Given the description of an element on the screen output the (x, y) to click on. 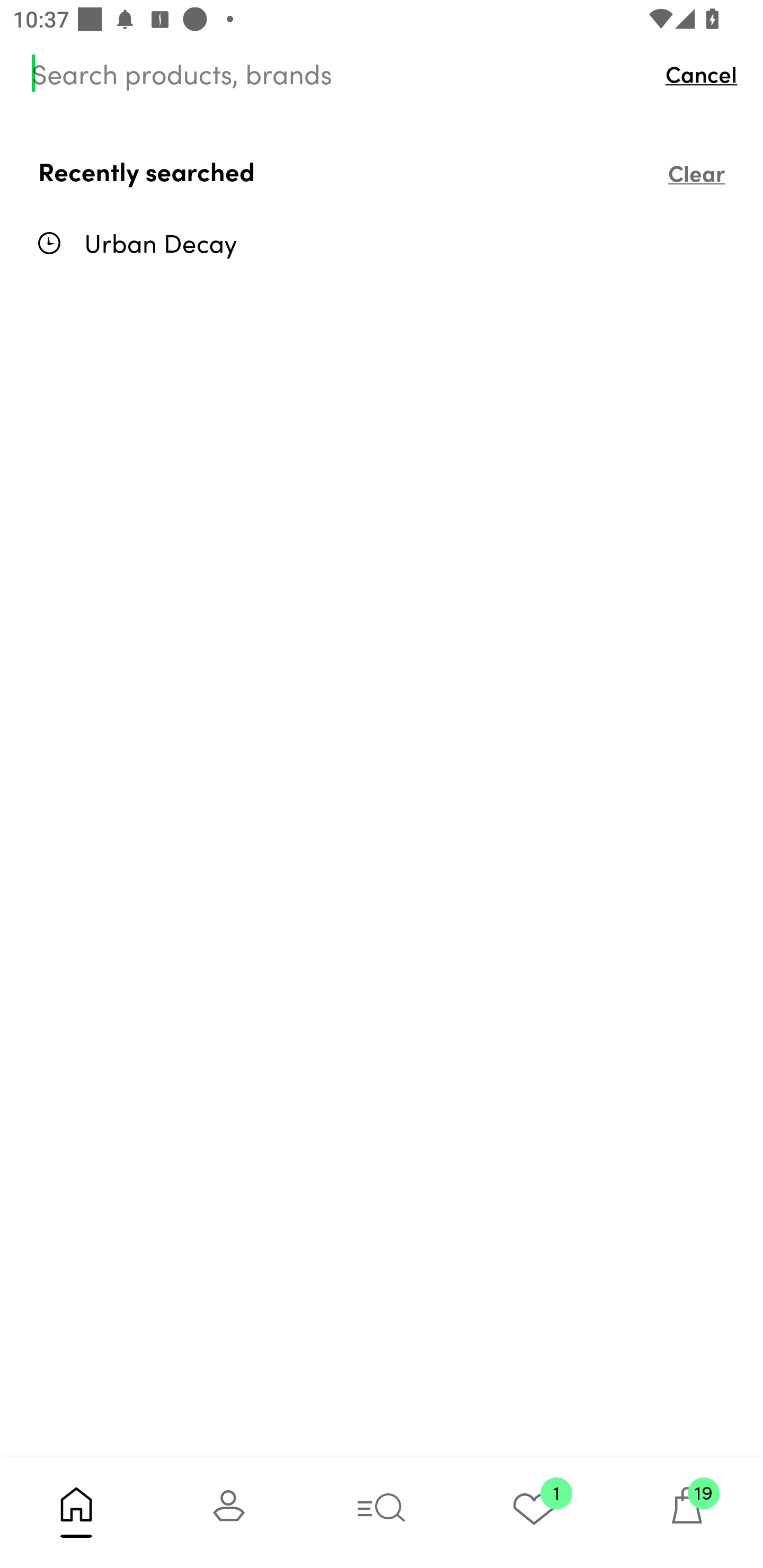
Cancel (706, 72)
Search products, brands (340, 72)
Clear (696, 171)
Urban Decay (400, 243)
1 (533, 1512)
19 (686, 1512)
